Given the description of an element on the screen output the (x, y) to click on. 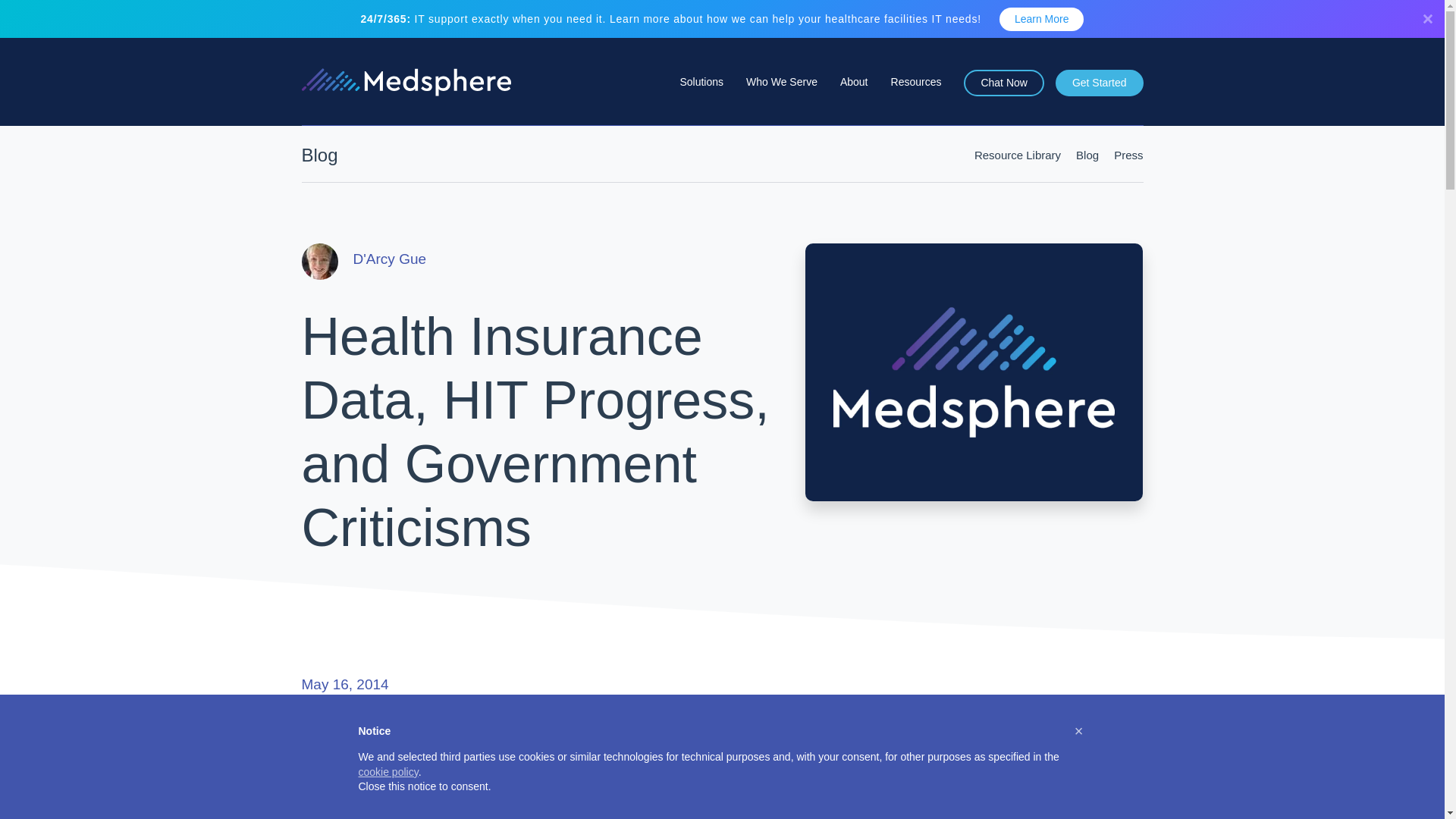
Who We Serve (780, 100)
Learn More (1041, 19)
Resources (916, 100)
Chat Now (1003, 82)
Get Started (1098, 82)
